Given the description of an element on the screen output the (x, y) to click on. 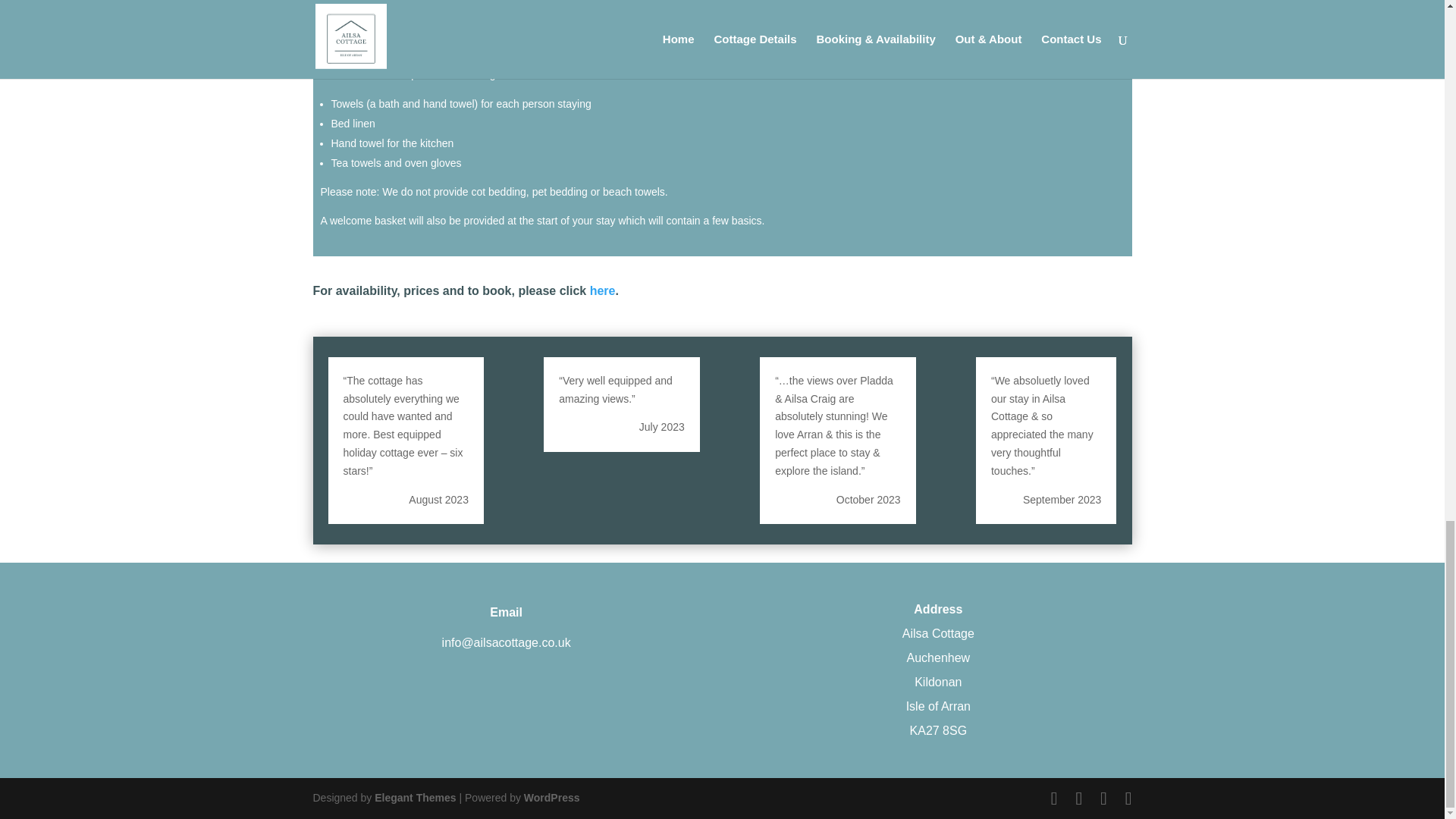
WordPress (551, 797)
Premium WordPress Themes (414, 797)
here (602, 290)
Elegant Themes (414, 797)
